Given the description of an element on the screen output the (x, y) to click on. 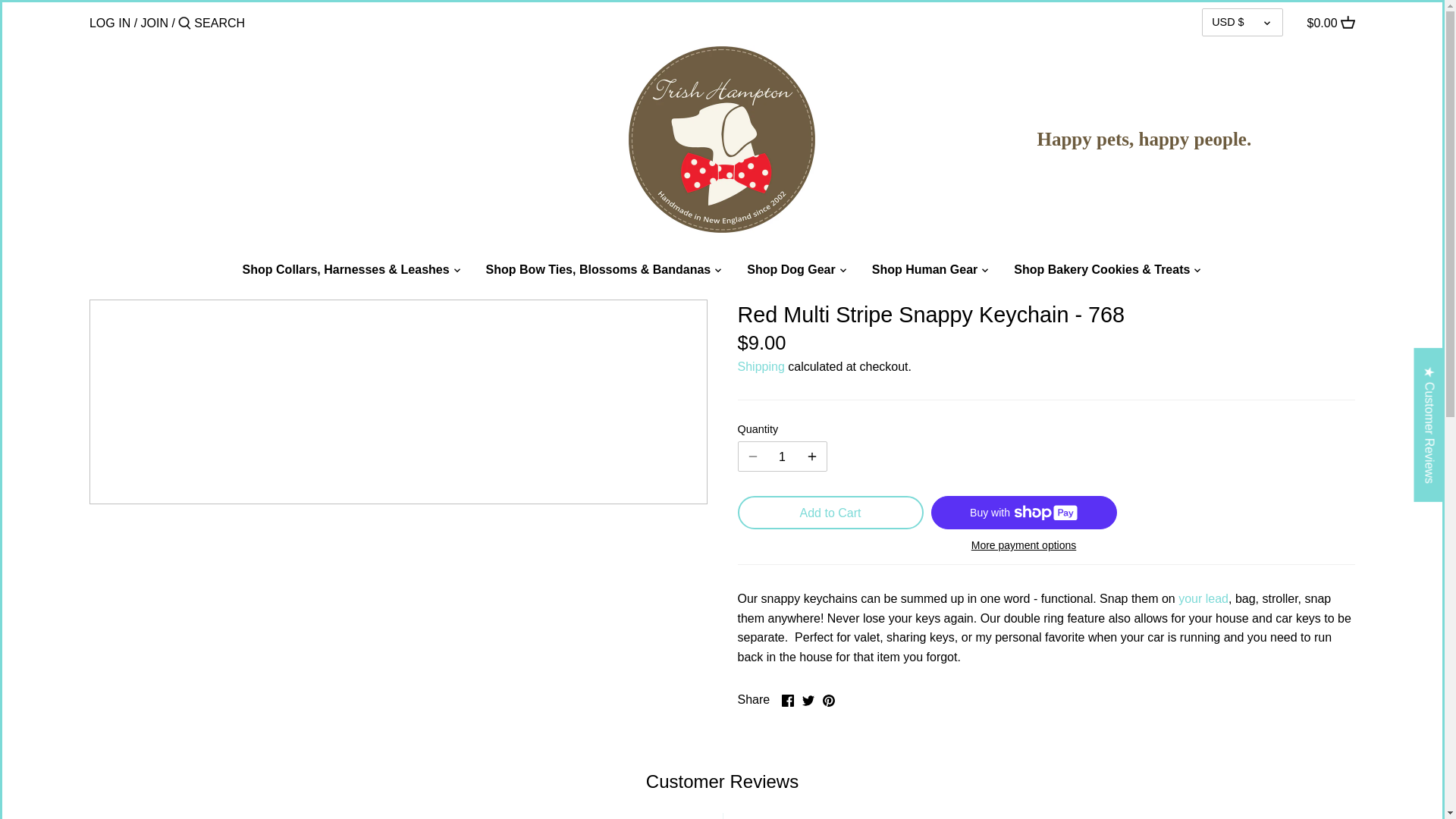
LOG IN (109, 22)
1 (782, 456)
Facebook (787, 700)
JOIN (154, 22)
Twitter (807, 700)
Pinterest (828, 700)
